Given the description of an element on the screen output the (x, y) to click on. 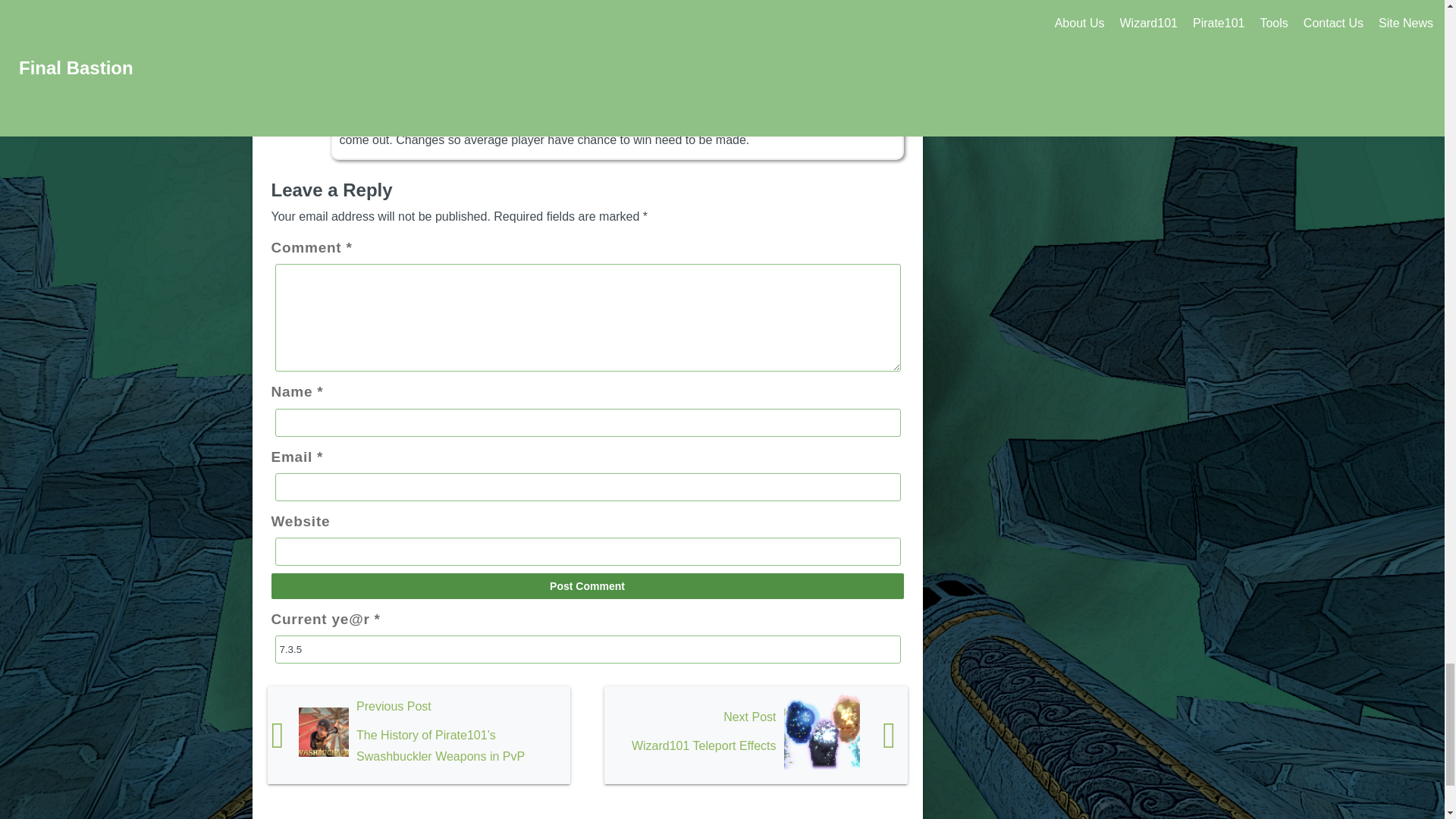
Wizard101 Teleport Effects (755, 734)
Post Comment (587, 585)
7.3.5 (587, 649)
